Given the description of an element on the screen output the (x, y) to click on. 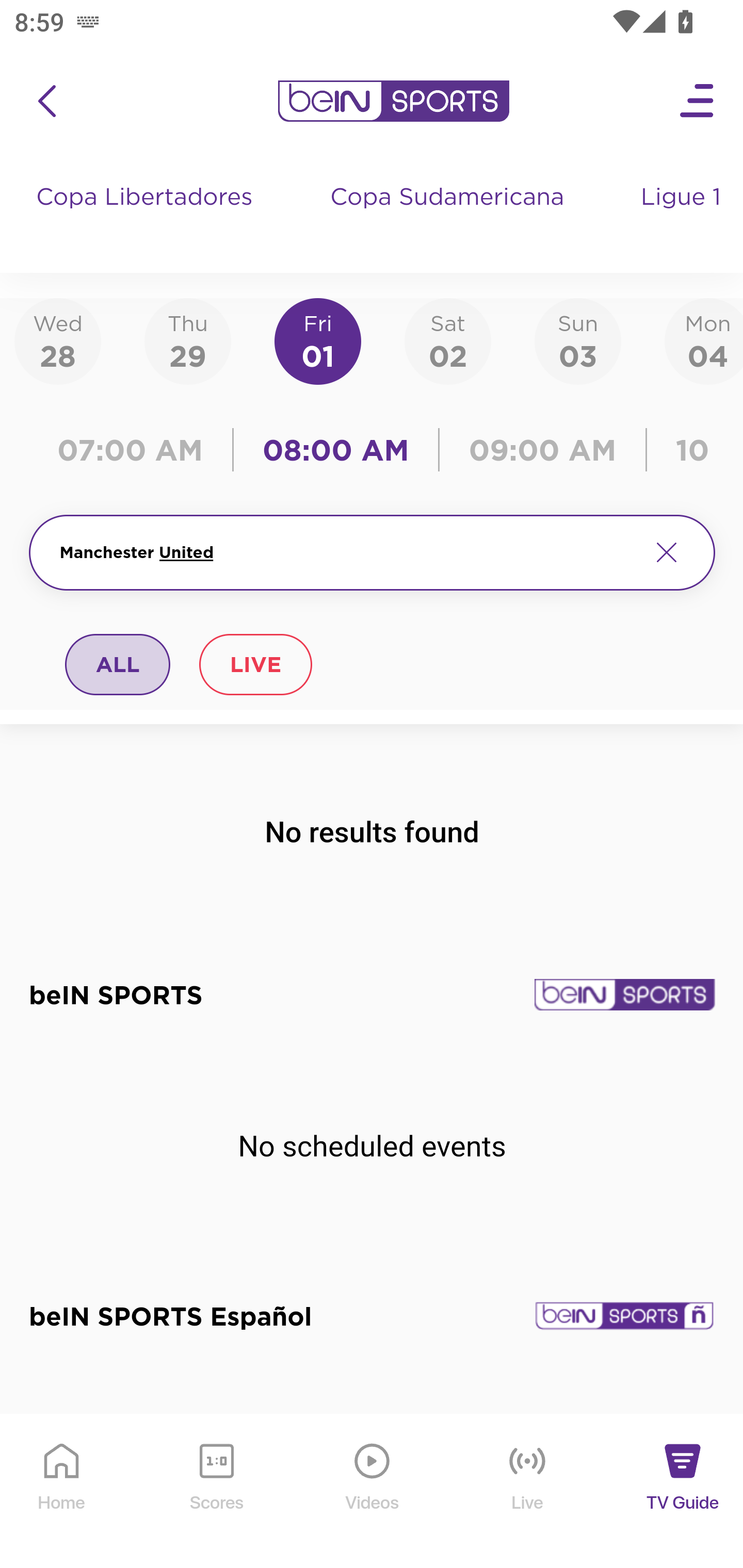
en-us?platform=mobile_android bein logo (392, 101)
icon back (46, 101)
Open Menu Icon (697, 101)
Copa Libertadores (146, 216)
Copa Sudamericana (448, 216)
Ligue 1 (682, 216)
Wed28 (58, 340)
Thu29 (187, 340)
Fri01 (318, 340)
Sat02 (447, 340)
Sun03 (578, 340)
Mon04 (703, 340)
07:00 AM (135, 449)
08:00 AM (336, 449)
09:00 AM (542, 449)
Manchester United (346, 552)
ALL (118, 663)
LIVE (255, 663)
Home Home Icon Home (61, 1491)
Scores Scores Icon Scores (216, 1491)
Videos Videos Icon Videos (372, 1491)
TV Guide TV Guide Icon TV Guide (682, 1491)
